Given the description of an element on the screen output the (x, y) to click on. 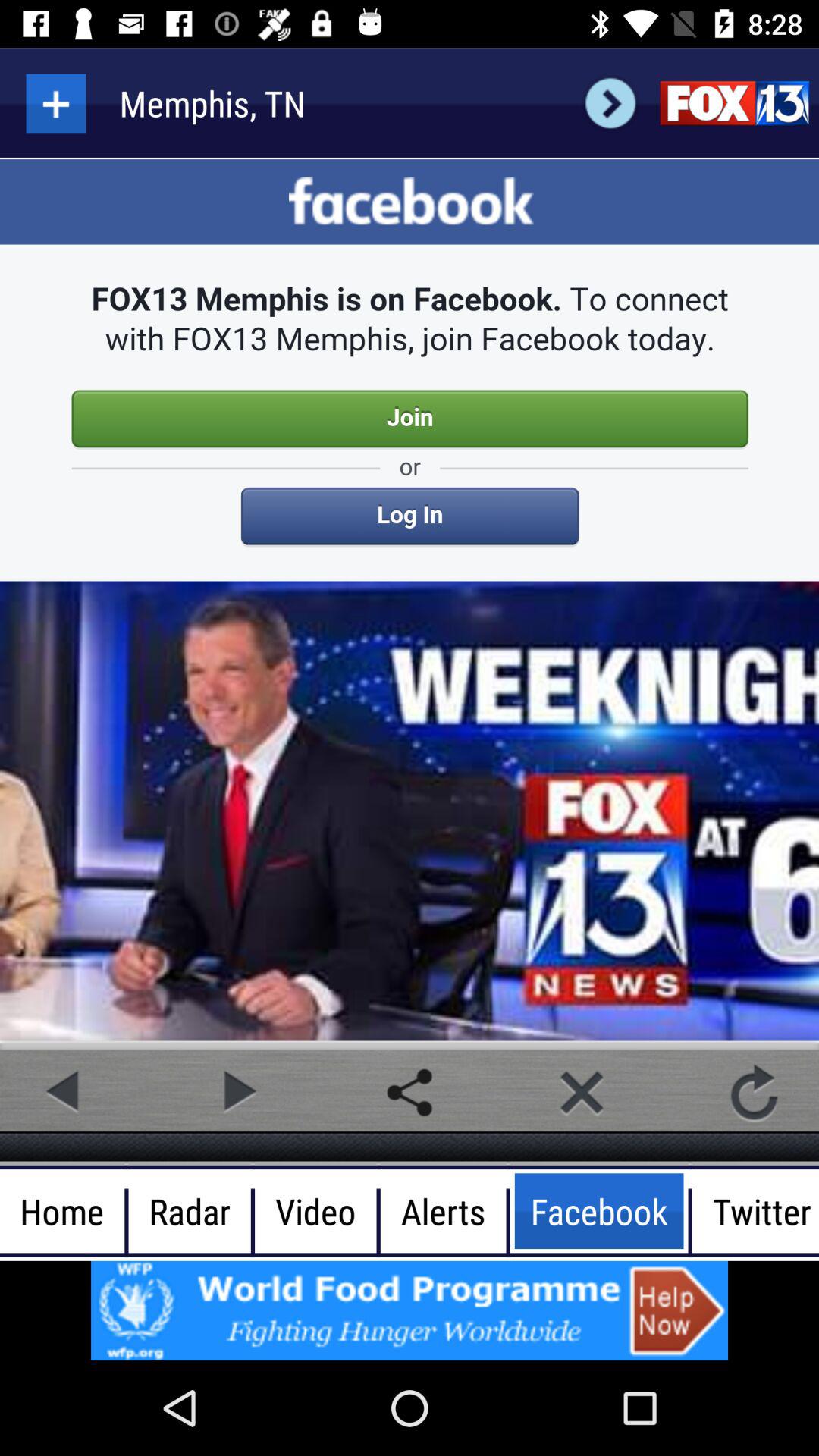
refresh (754, 1092)
